Given the description of an element on the screen output the (x, y) to click on. 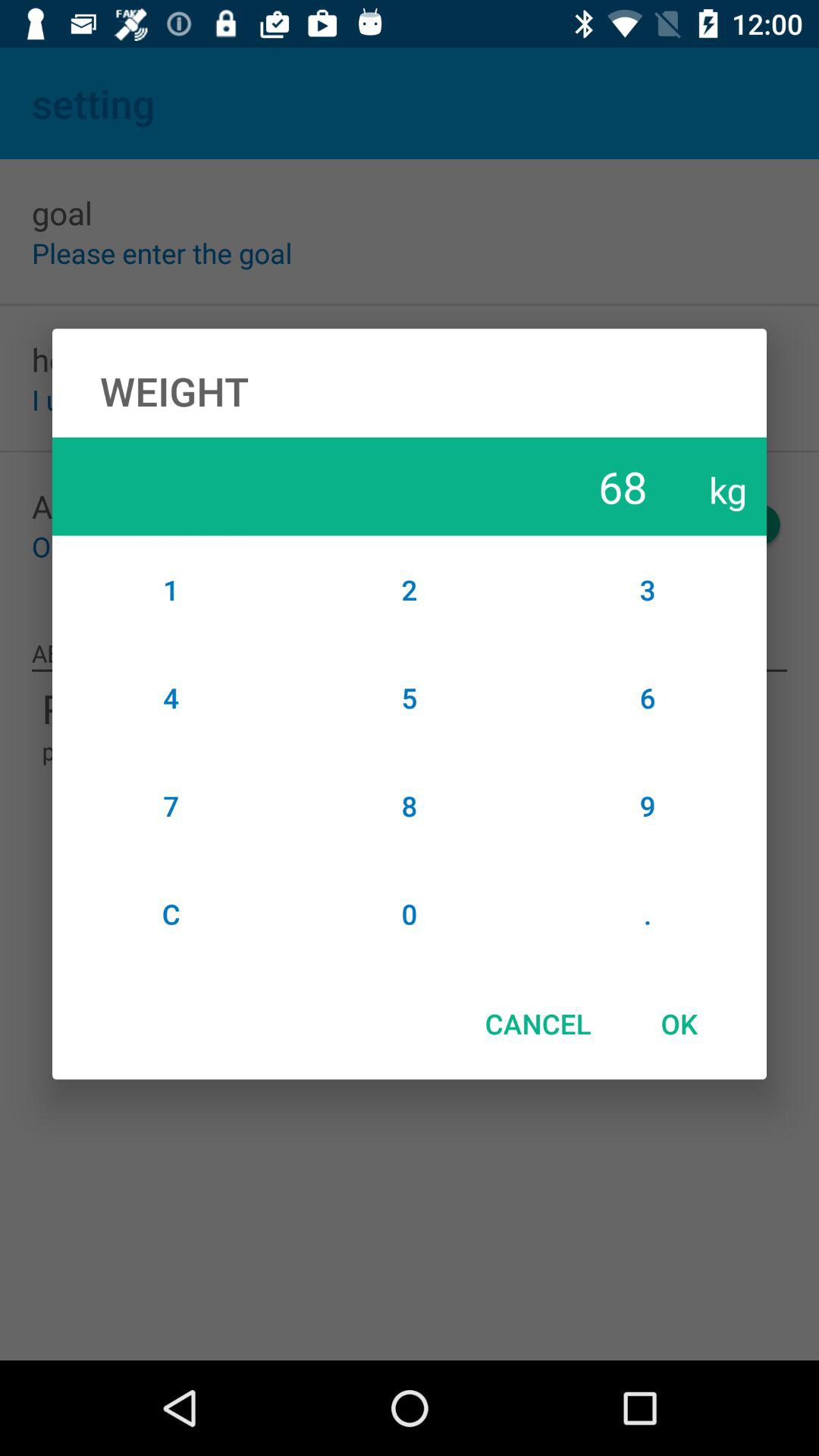
click the icon to the left of 8 icon (171, 913)
